Given the description of an element on the screen output the (x, y) to click on. 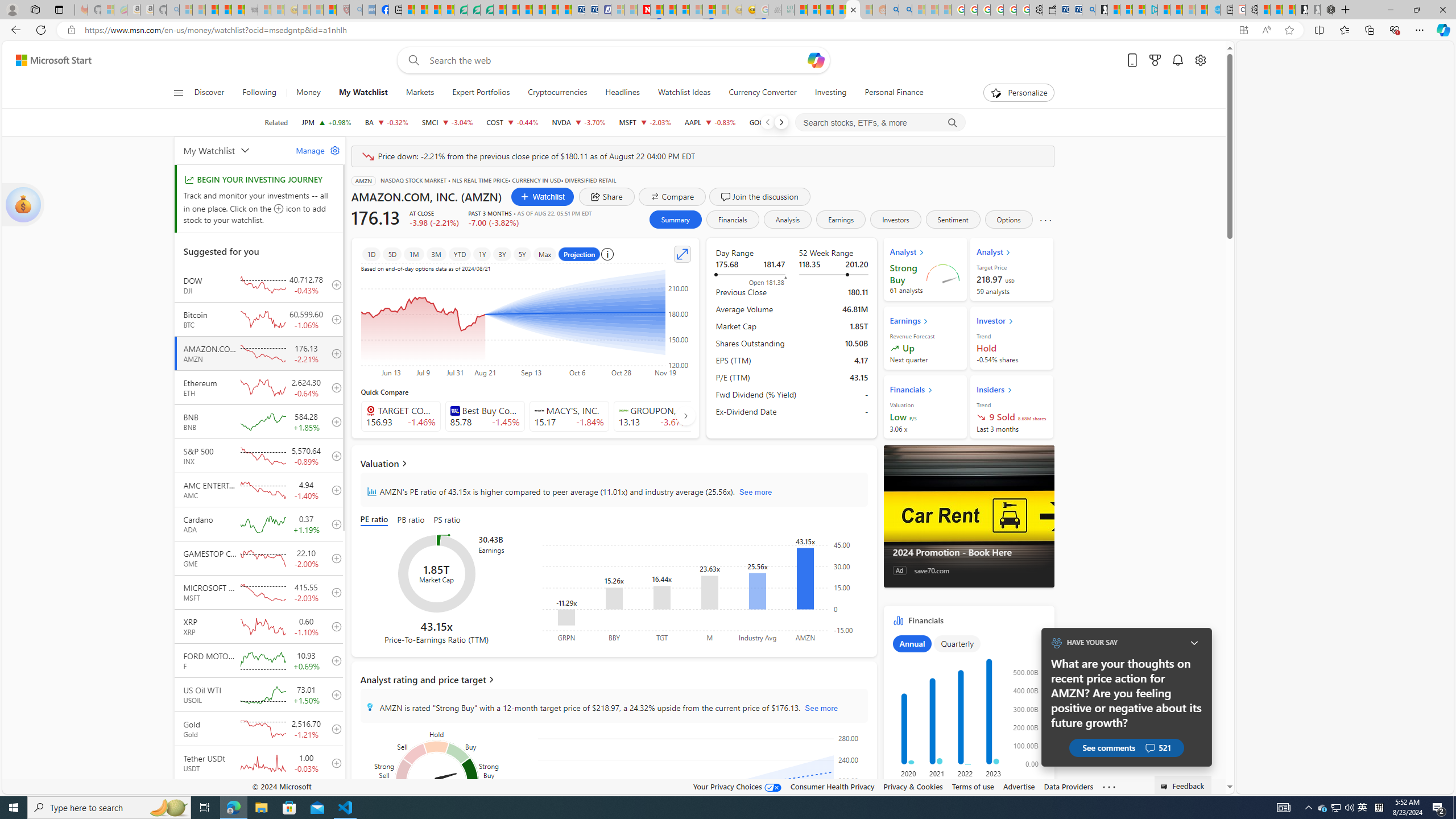
BA THE BOEING COMPANY decrease 172.87 -0.56 -0.32% (386, 122)
Summary (675, 219)
NVDA NVIDIA CORPORATION decrease 123.74 -4.76 -3.70% (578, 122)
New Report Confirms 2023 Was Record Hot | Watch (237, 9)
Search stocks, ETFs, & more (880, 122)
